Given the description of an element on the screen output the (x, y) to click on. 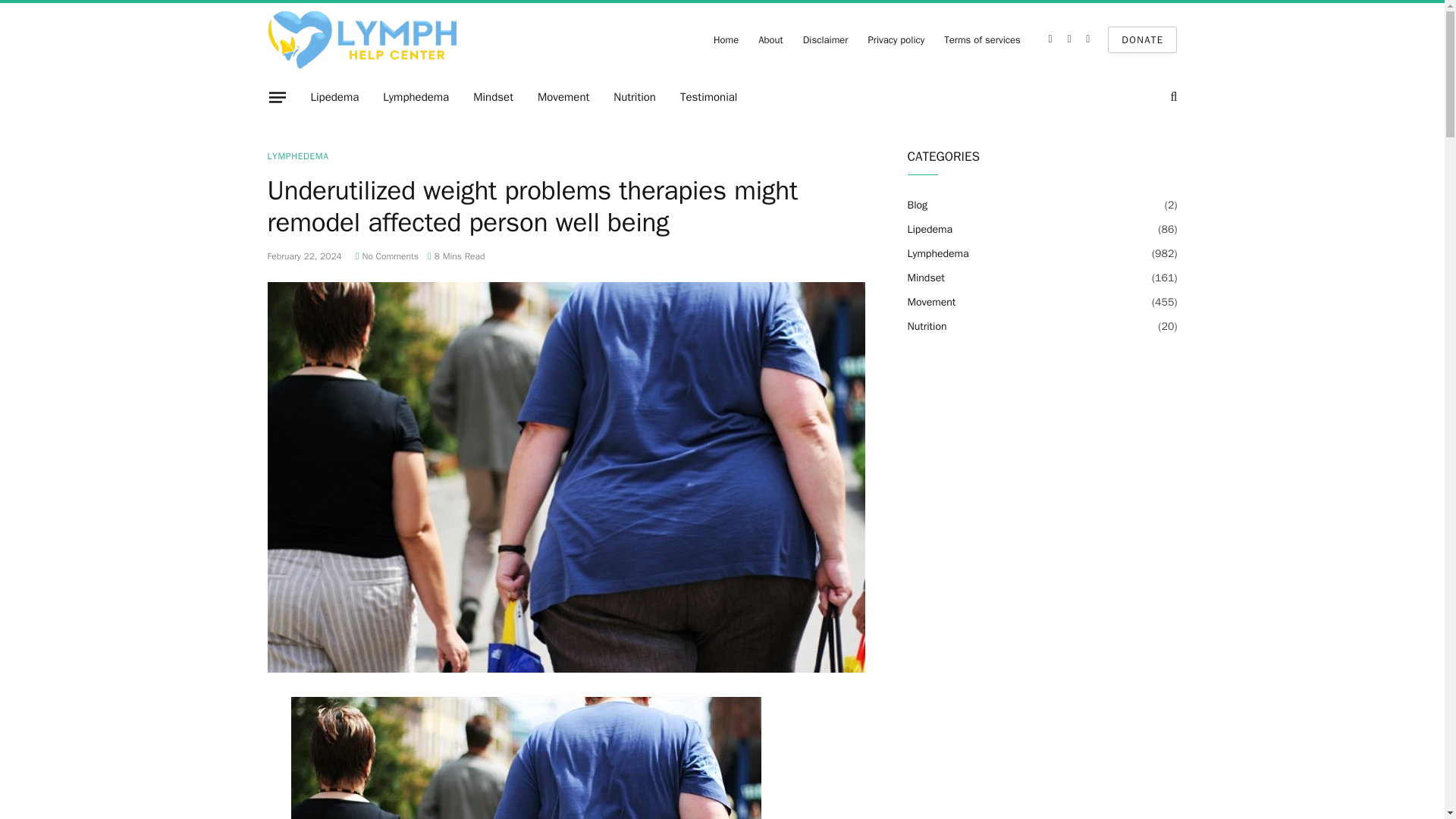
Testimonial (708, 96)
No Comments (387, 256)
DONATE (1142, 38)
Mindset (493, 96)
Lipedema (334, 96)
Terms of services (982, 39)
Disclaimer (826, 39)
Movement (563, 96)
Privacy policy (895, 39)
Nutrition (634, 96)
